Given the description of an element on the screen output the (x, y) to click on. 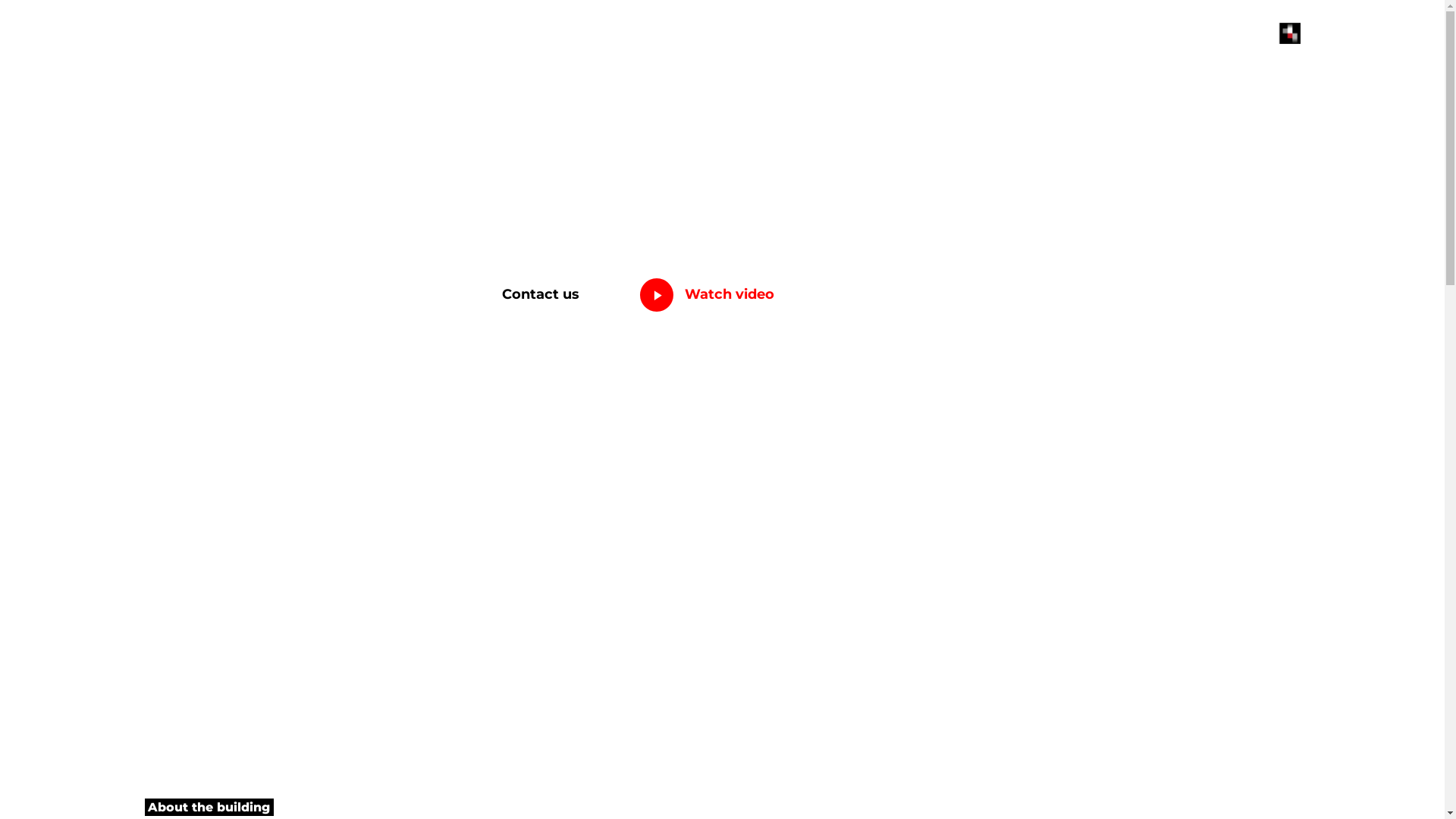
Contact us Element type: text (540, 293)
Watch video Element type: text (723, 288)
info@houseofcommunication.brussels Element type: text (261, 57)
